Given the description of an element on the screen output the (x, y) to click on. 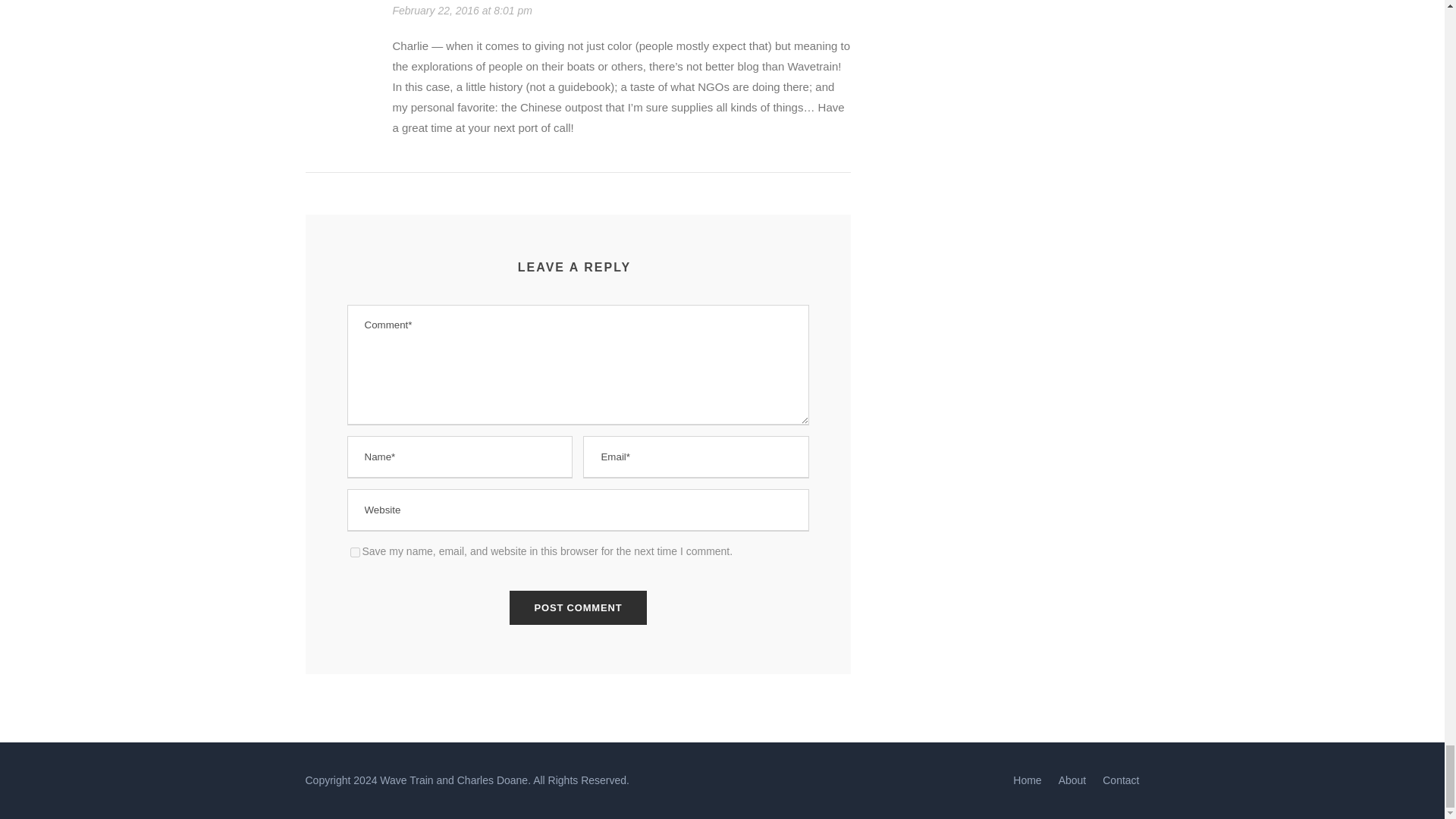
yes (354, 552)
Post Comment (578, 607)
